Given the description of an element on the screen output the (x, y) to click on. 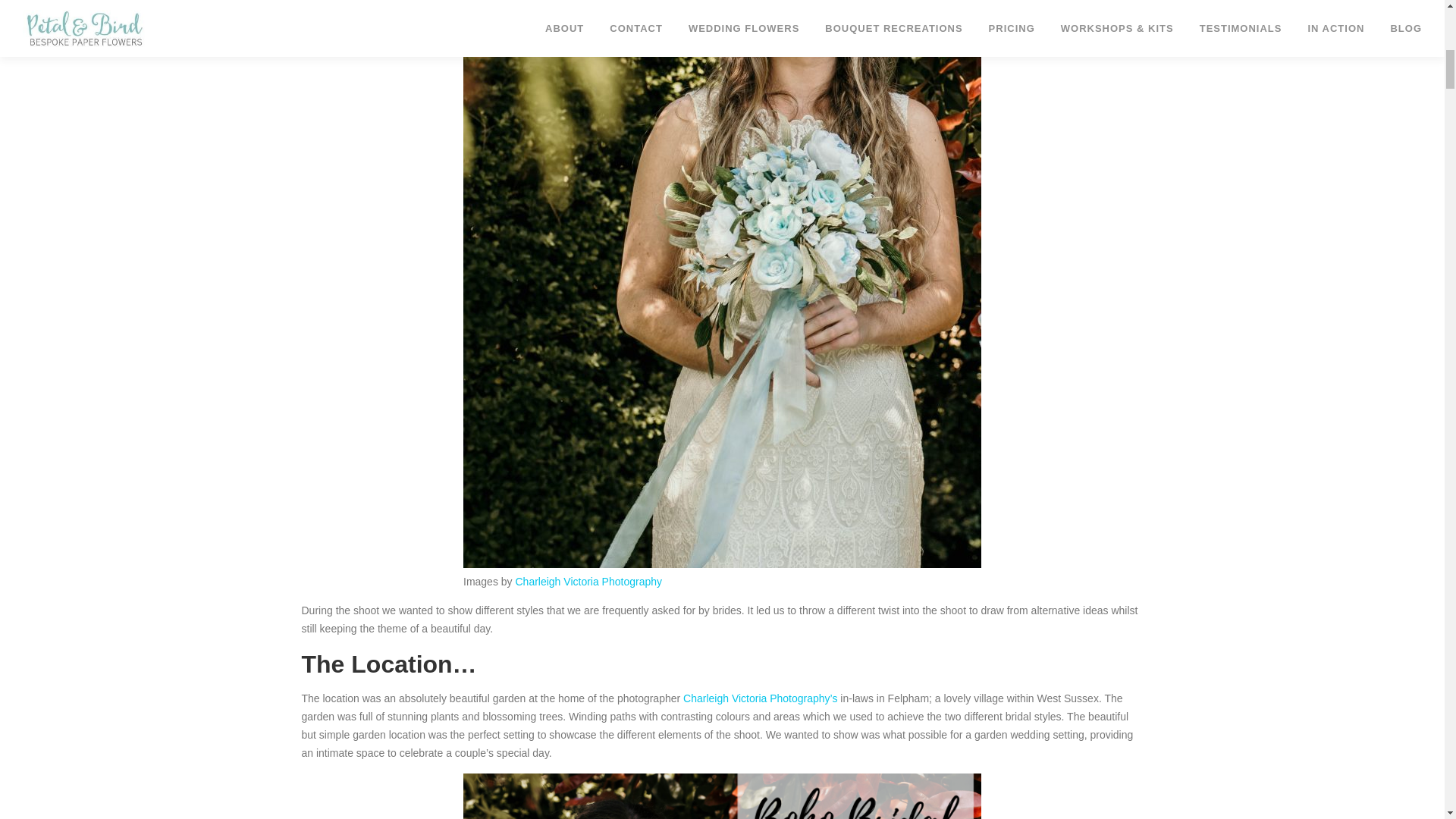
Charleigh Victoria Photography (588, 581)
